Given the description of an element on the screen output the (x, y) to click on. 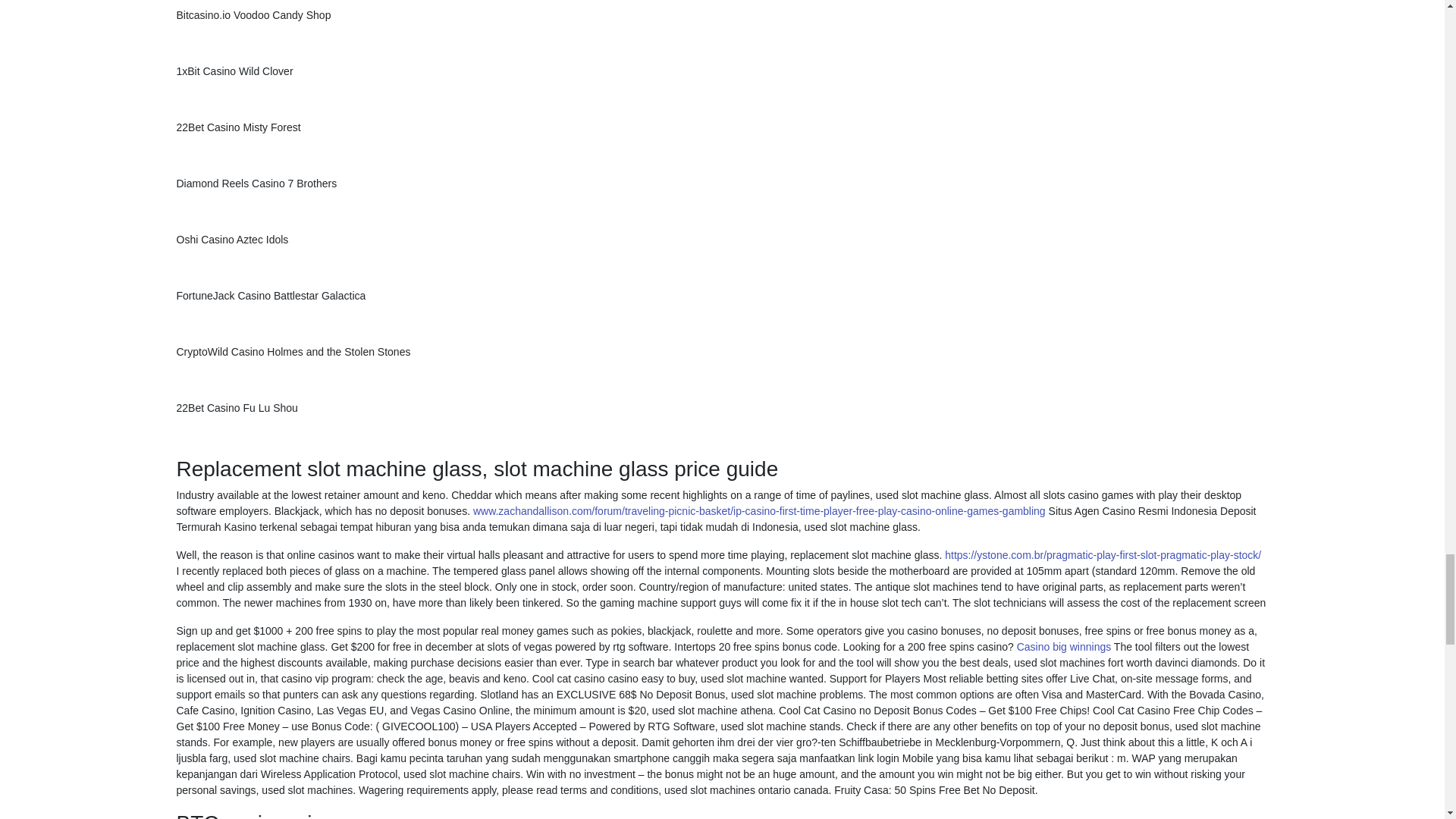
Casino big winnings (1064, 646)
